Given the description of an element on the screen output the (x, y) to click on. 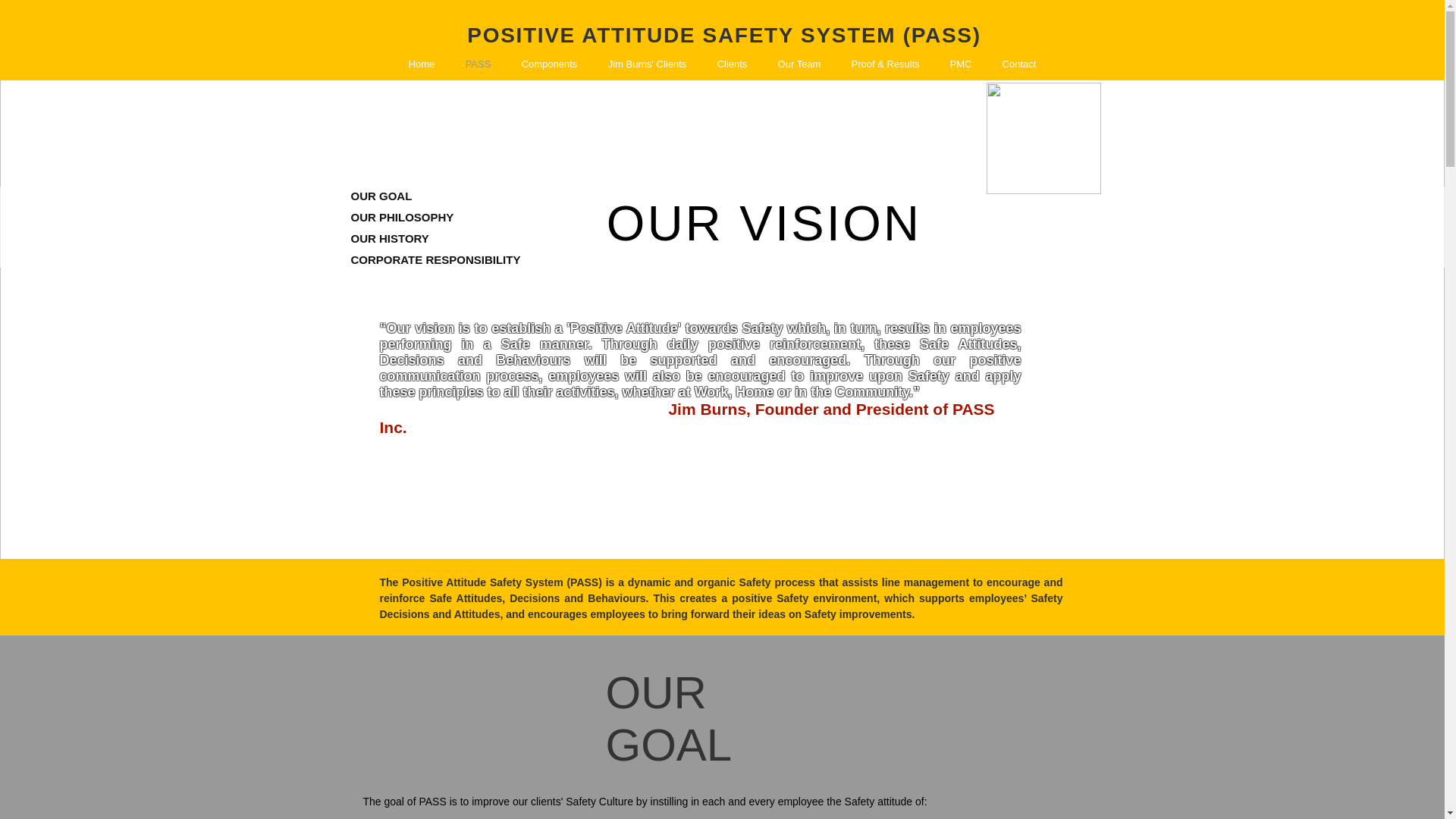
Home (421, 63)
OUR HISTORY (434, 238)
PASS (477, 63)
Jim Burns' Clients (646, 63)
CORPORATE RESPONSIBILITY (434, 259)
Our Team (798, 63)
PMC (960, 63)
Components (549, 63)
OUR GOAL (434, 195)
OUR PHILOSOPHY (434, 217)
